Given the description of an element on the screen output the (x, y) to click on. 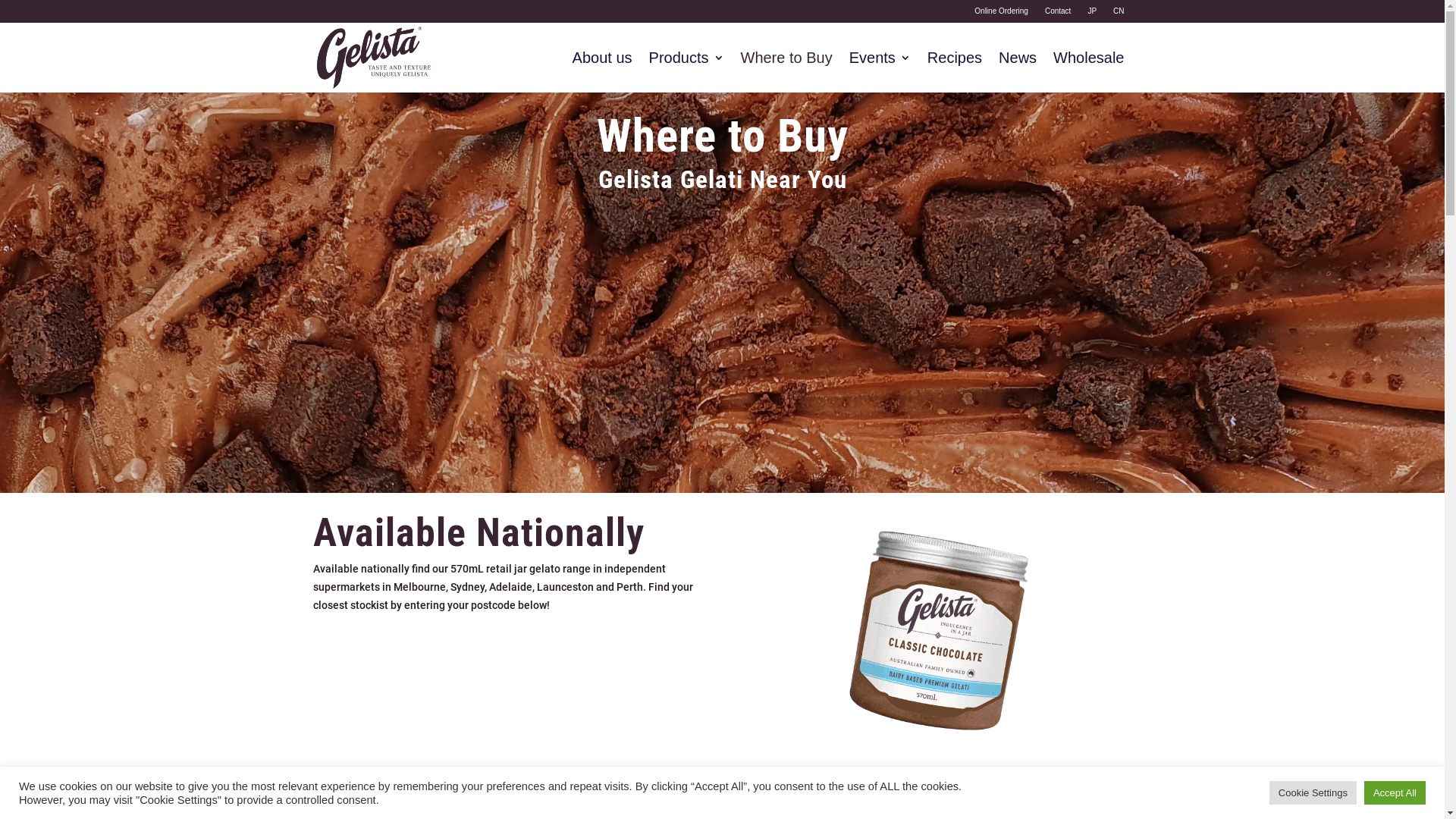
Where to Buy Element type: text (785, 60)
About us Element type: text (602, 60)
Wholesale Element type: text (1088, 60)
CN Element type: text (1118, 14)
Cookie Settings Element type: text (1312, 792)
Events Element type: text (879, 60)
JP Element type: text (1091, 14)
classic-chocolate-gif Element type: hover (938, 633)
Gelista Logo Taste and Texture Tageline Element type: hover (372, 57)
Online Ordering Element type: text (1001, 14)
Products Element type: text (686, 60)
Recipes Element type: text (954, 60)
Accept All Element type: text (1394, 792)
News Element type: text (1017, 60)
Contact Element type: text (1057, 14)
